Given the description of an element on the screen output the (x, y) to click on. 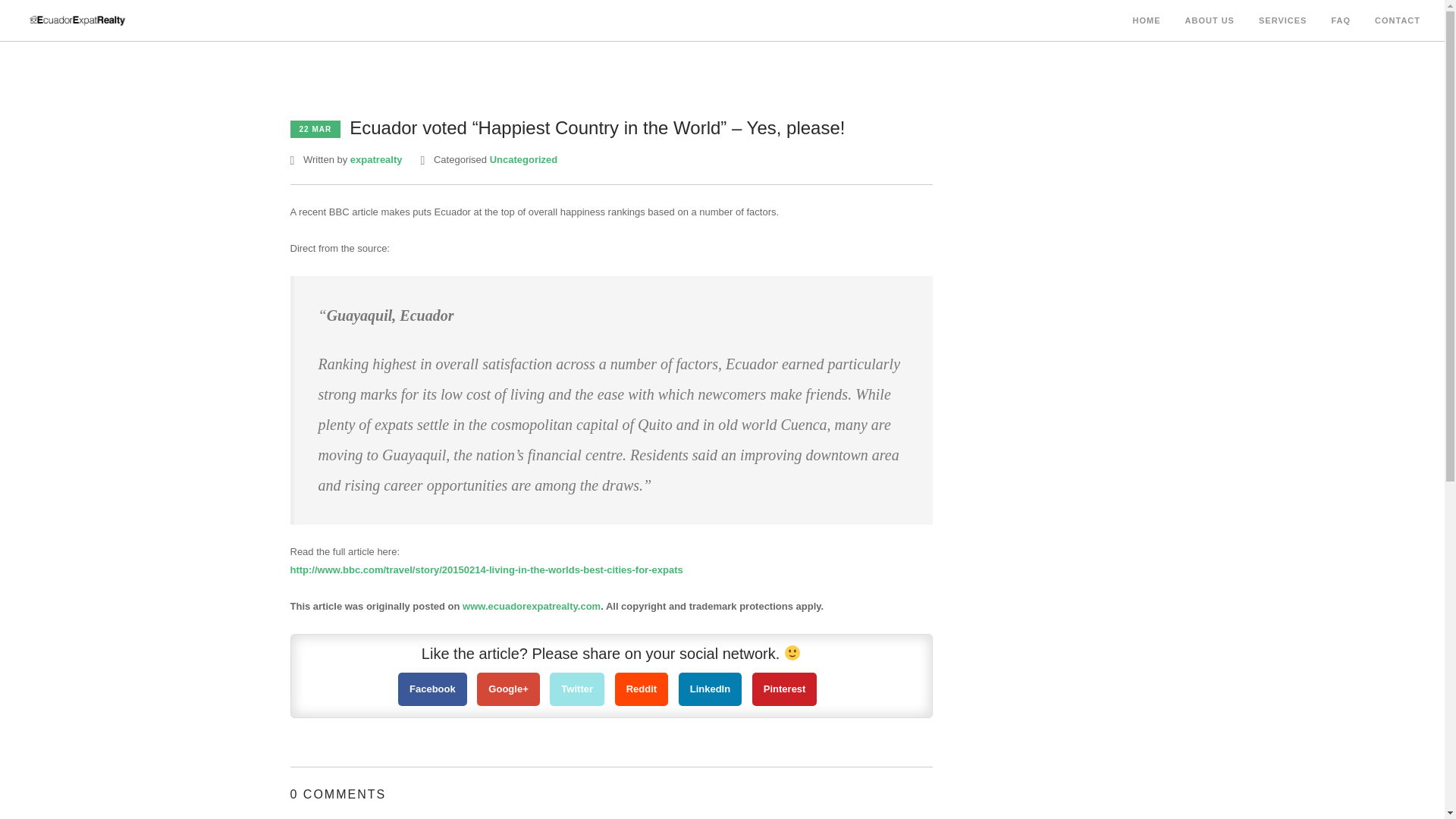
Pinterest (784, 688)
Facebook (432, 688)
Uncategorized (523, 159)
Share this post on Facebook! (432, 688)
Posts by expatrealty (376, 159)
SERVICES (1282, 21)
Share this post on Twitter! (577, 688)
expatrealty (376, 159)
LinkedIn (709, 688)
ABOUT US (1209, 21)
Reddit (641, 688)
Twitter (577, 688)
CONTACT (1397, 21)
www.ecuadorexpatrealty.com (531, 605)
